Given the description of an element on the screen output the (x, y) to click on. 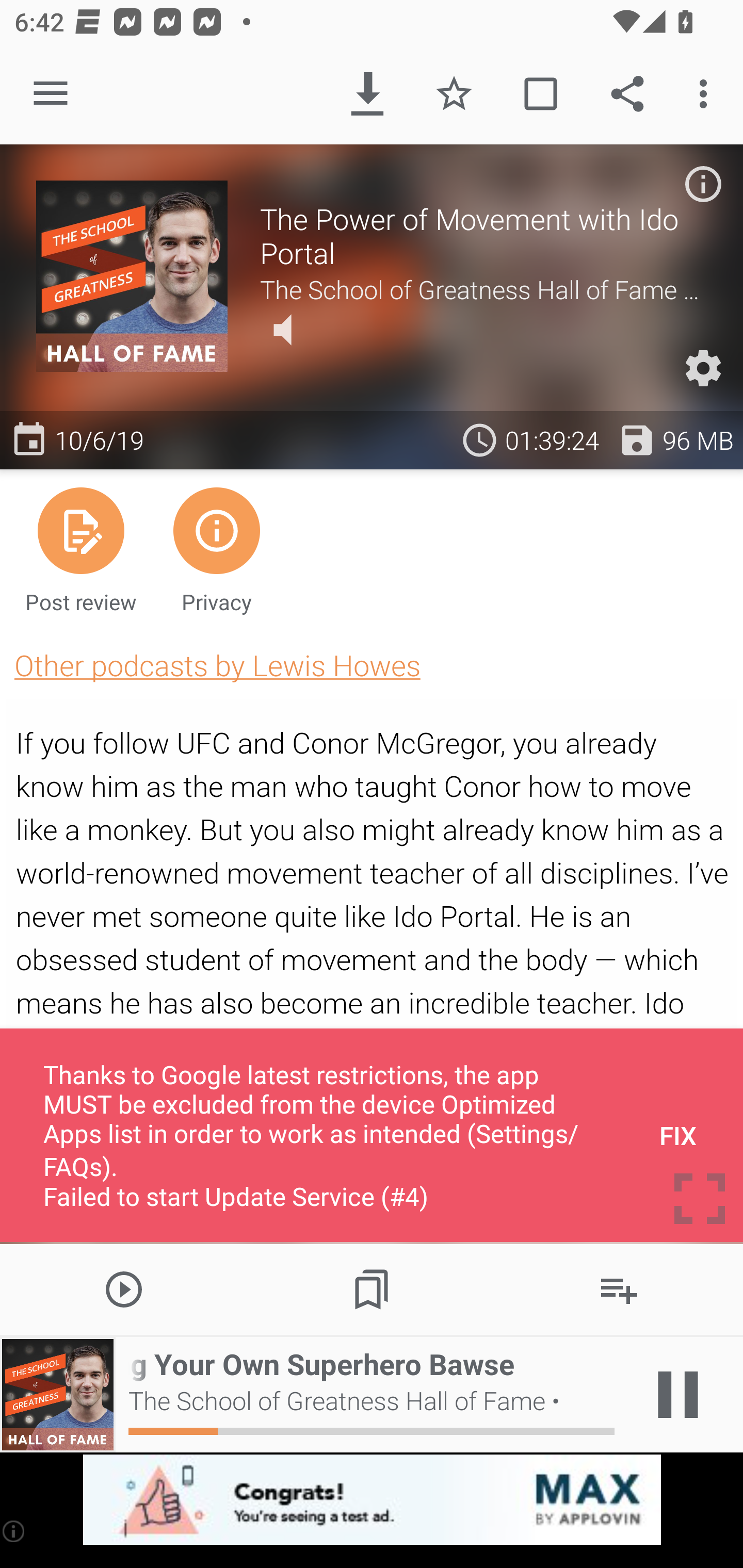
Open navigation sidebar (50, 93)
Download (366, 93)
Favorite (453, 93)
Mark played / unplayed (540, 93)
Share (626, 93)
More options (706, 93)
Podcast description (703, 184)
The Power of Movement with Ido Portal (483, 235)
Custom Settings (703, 368)
Post review (81, 549)
Privacy (216, 549)
Other podcasts by Lewis Howes (217, 665)
FIX (677, 1135)
Toggle full screen mode (699, 1198)
Play (123, 1288)
Chapters / Bookmarks (371, 1288)
Add to Playlist (619, 1288)
Play / Pause (677, 1394)
app-monetization (371, 1500)
(i) (14, 1531)
